Given the description of an element on the screen output the (x, y) to click on. 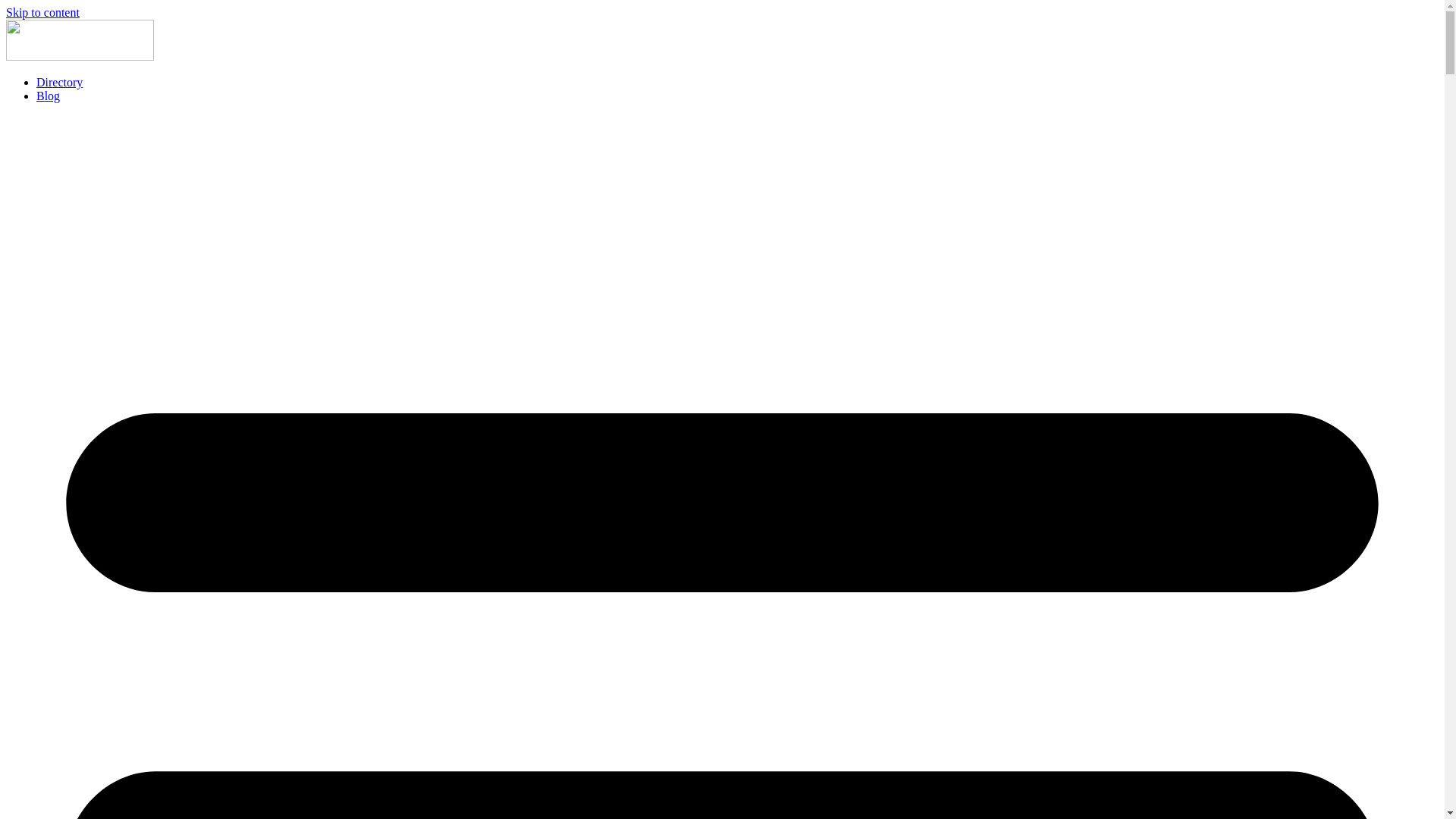
Skip to content Element type: text (42, 12)
Blog Element type: text (47, 95)
Directory Element type: text (59, 81)
